Given the description of an element on the screen output the (x, y) to click on. 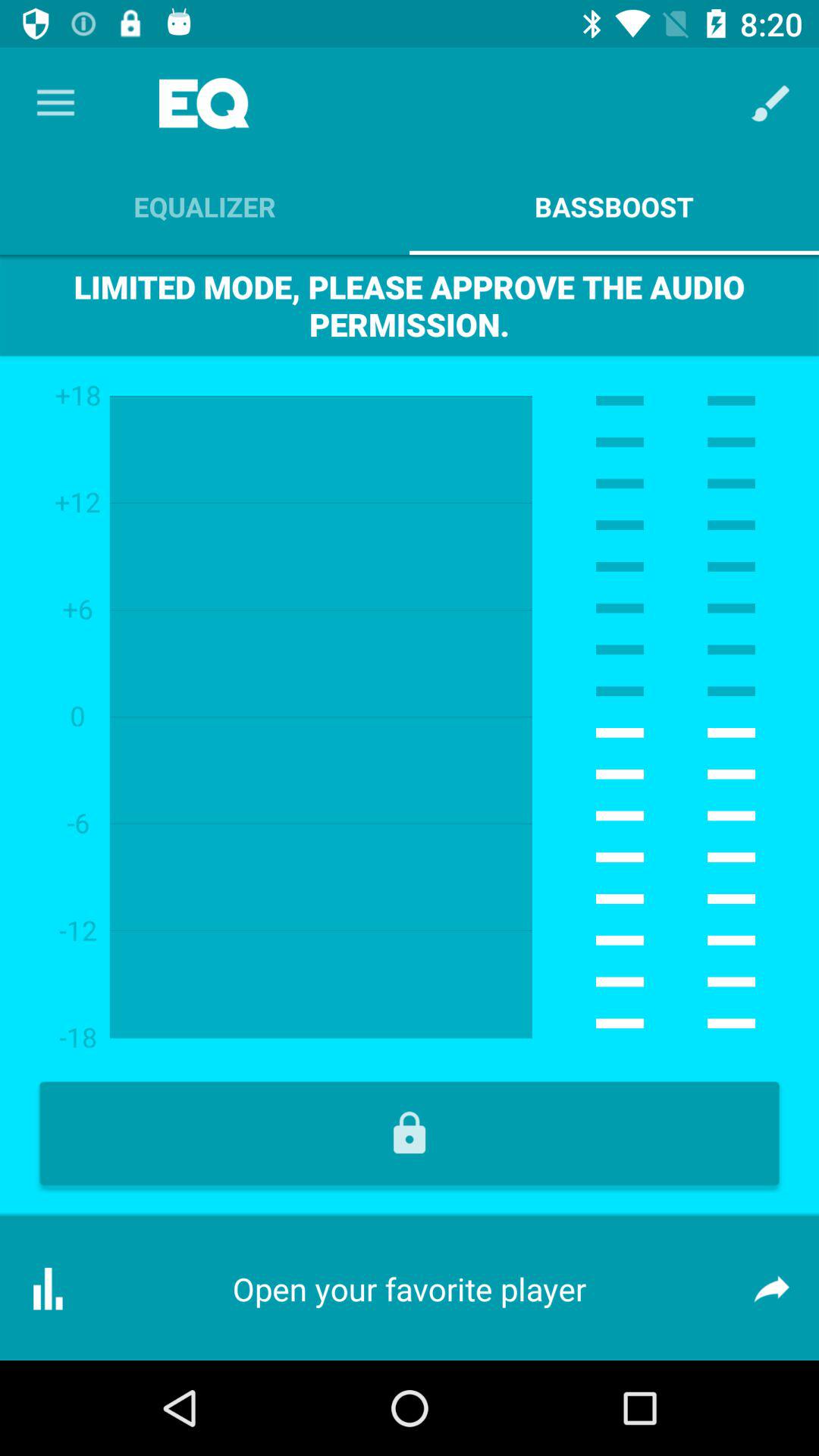
choose icon to the left of bassboost (204, 206)
